Given the description of an element on the screen output the (x, y) to click on. 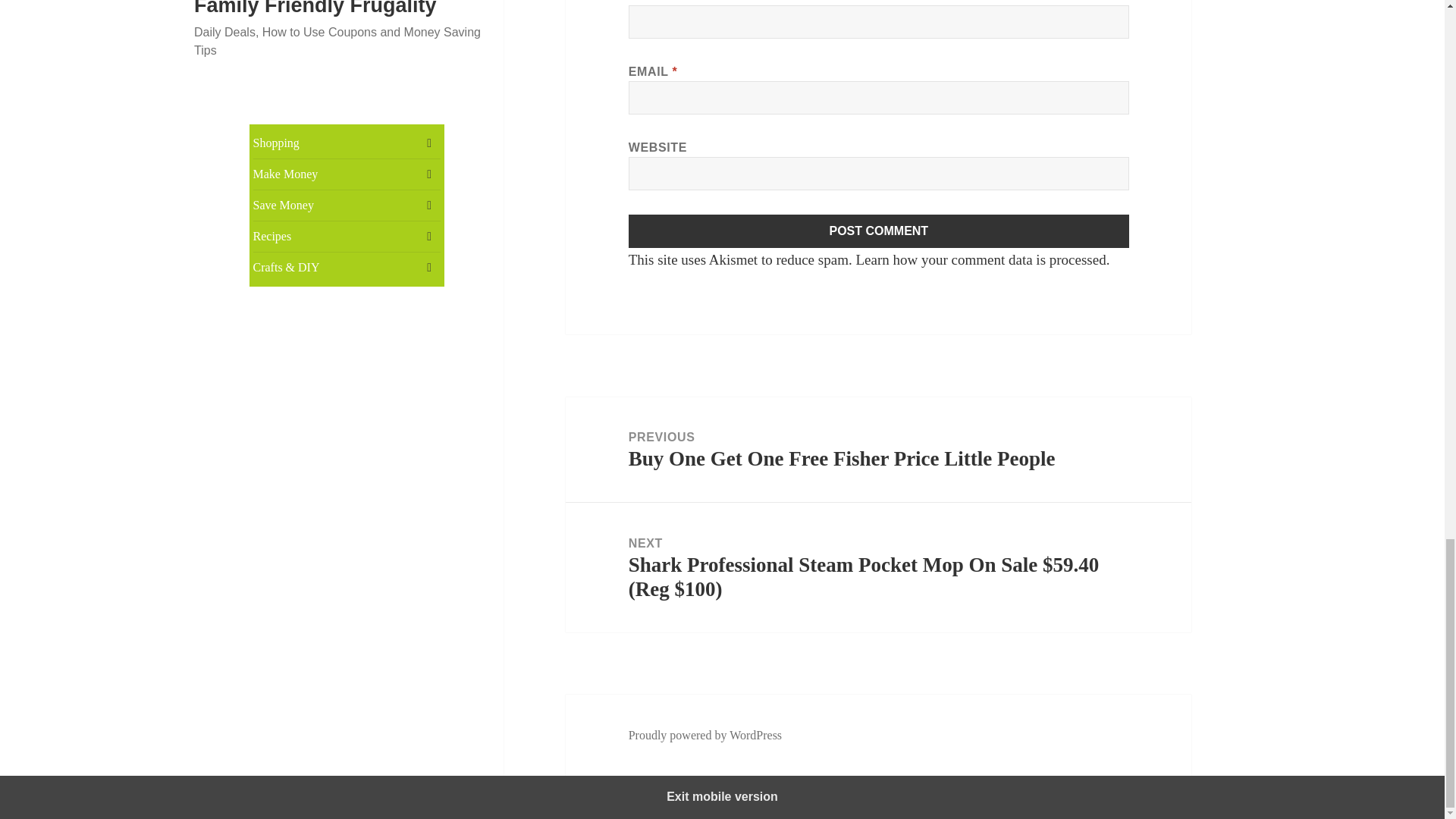
Post Comment (878, 231)
